Given the description of an element on the screen output the (x, y) to click on. 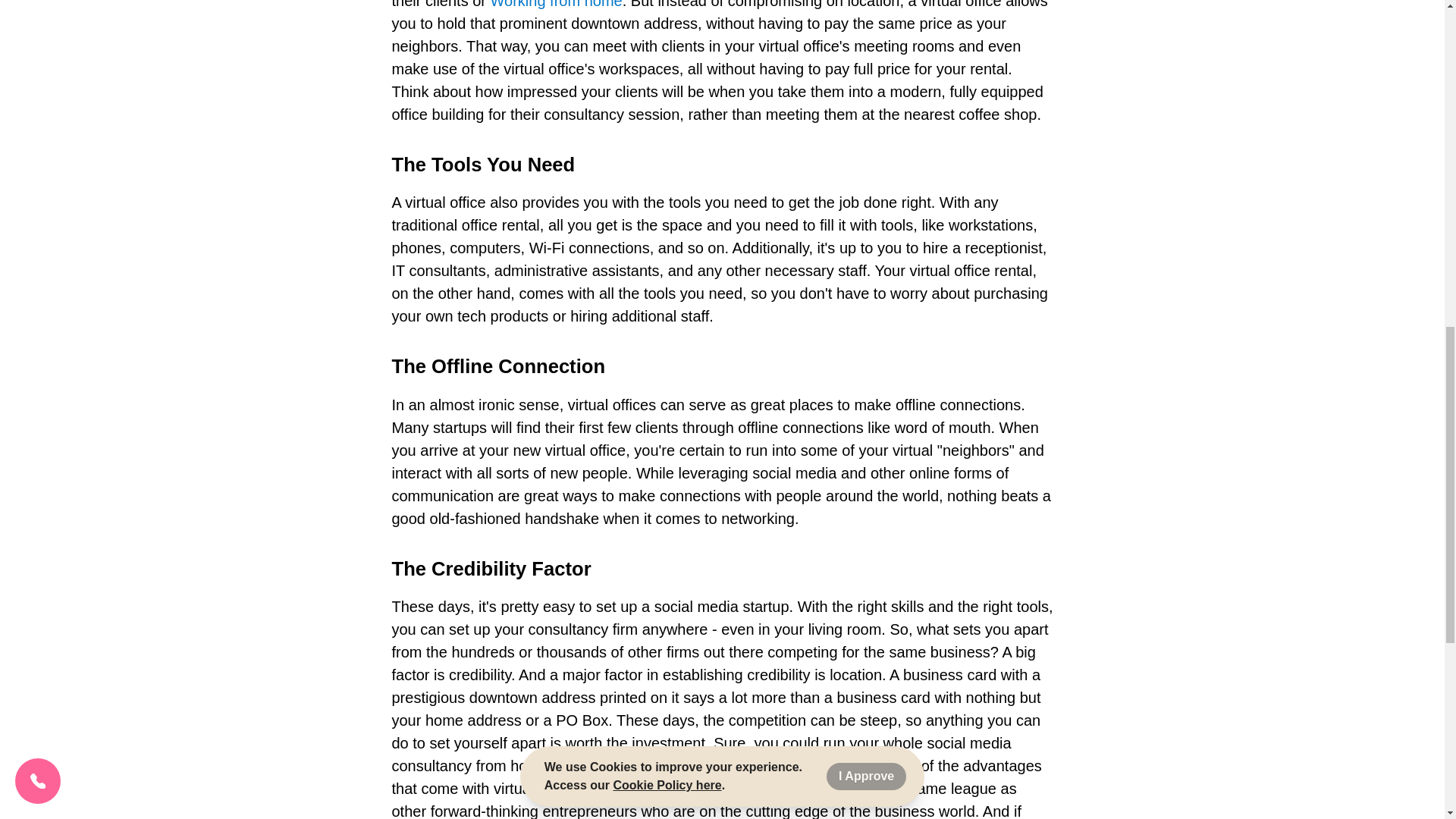
Working from home (556, 4)
